Given the description of an element on the screen output the (x, y) to click on. 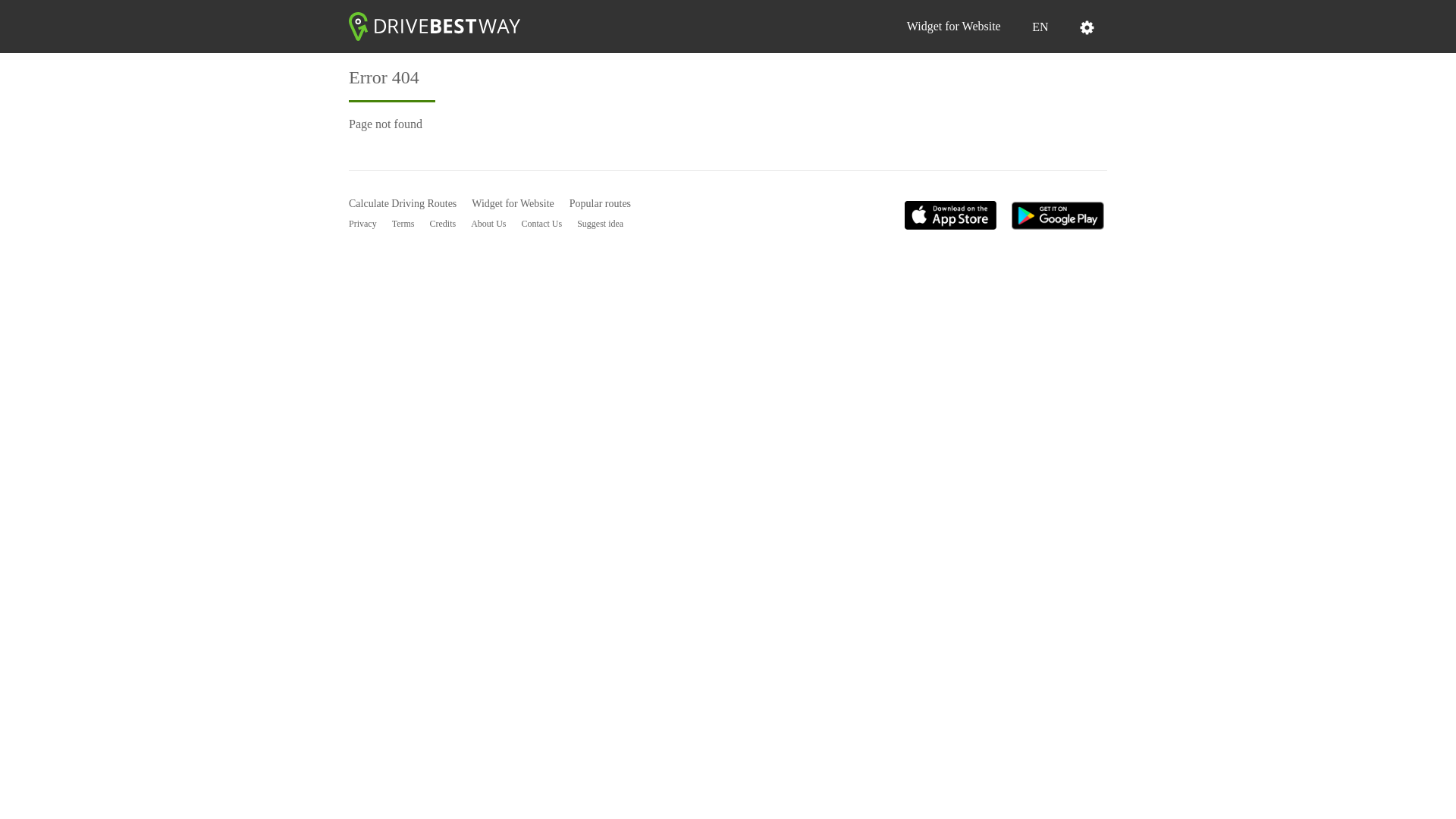
Calculate Driving Routes (403, 203)
